Given the description of an element on the screen output the (x, y) to click on. 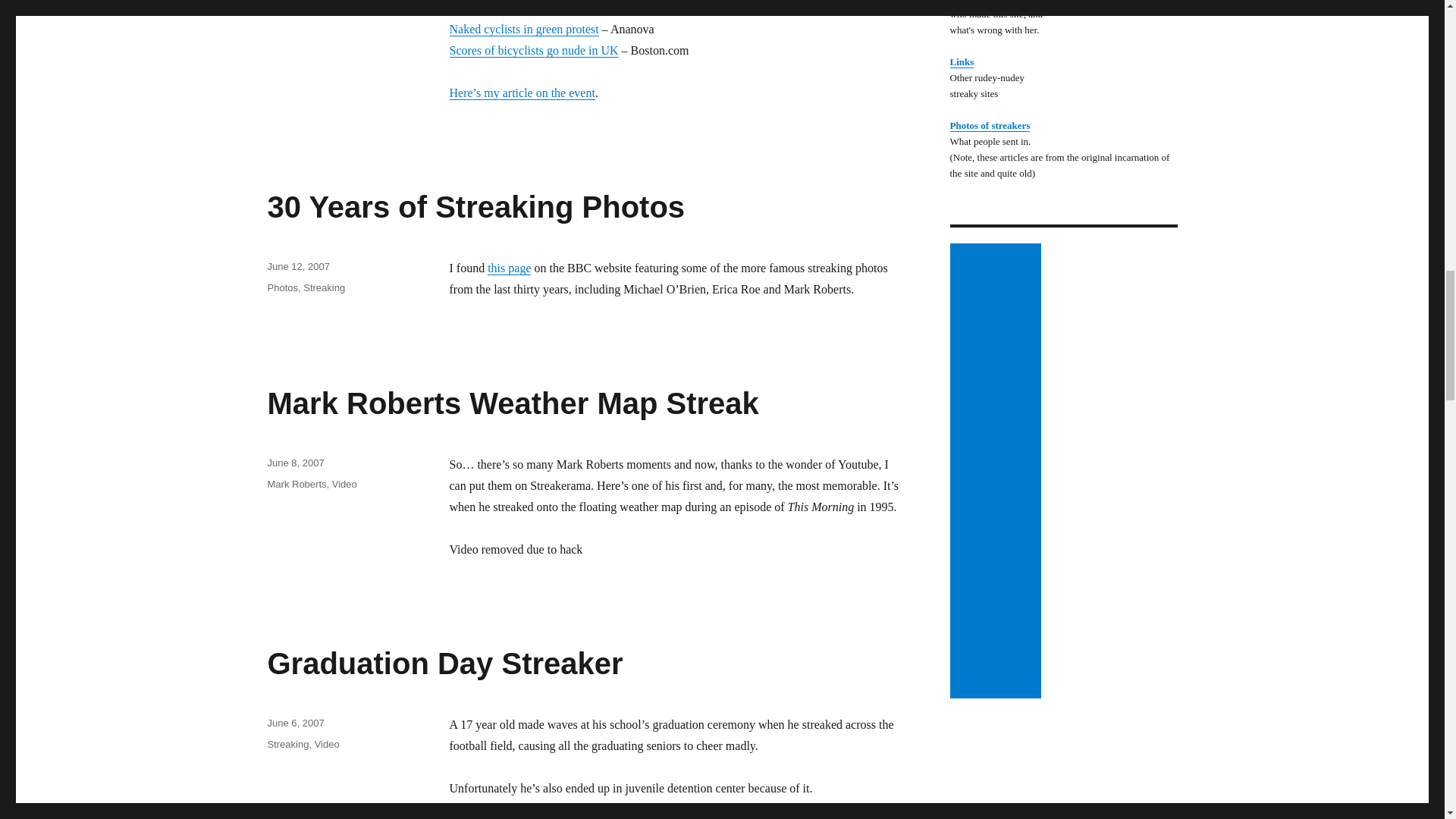
Graduation Day Streaker (444, 663)
June 8, 2007 (294, 462)
Photos (281, 287)
June 12, 2007 (297, 266)
Naked cyclists in green protest (523, 29)
Video (343, 483)
this page (509, 267)
Video (326, 744)
Mark Roberts (296, 483)
June 6, 2007 (294, 722)
30 Years of Streaking Photos (475, 206)
Brace cyclists go naked to promote greener transport (576, 7)
Streaking (287, 744)
Mark Roberts Weather Map Streak (512, 403)
Streaking (323, 287)
